Given the description of an element on the screen output the (x, y) to click on. 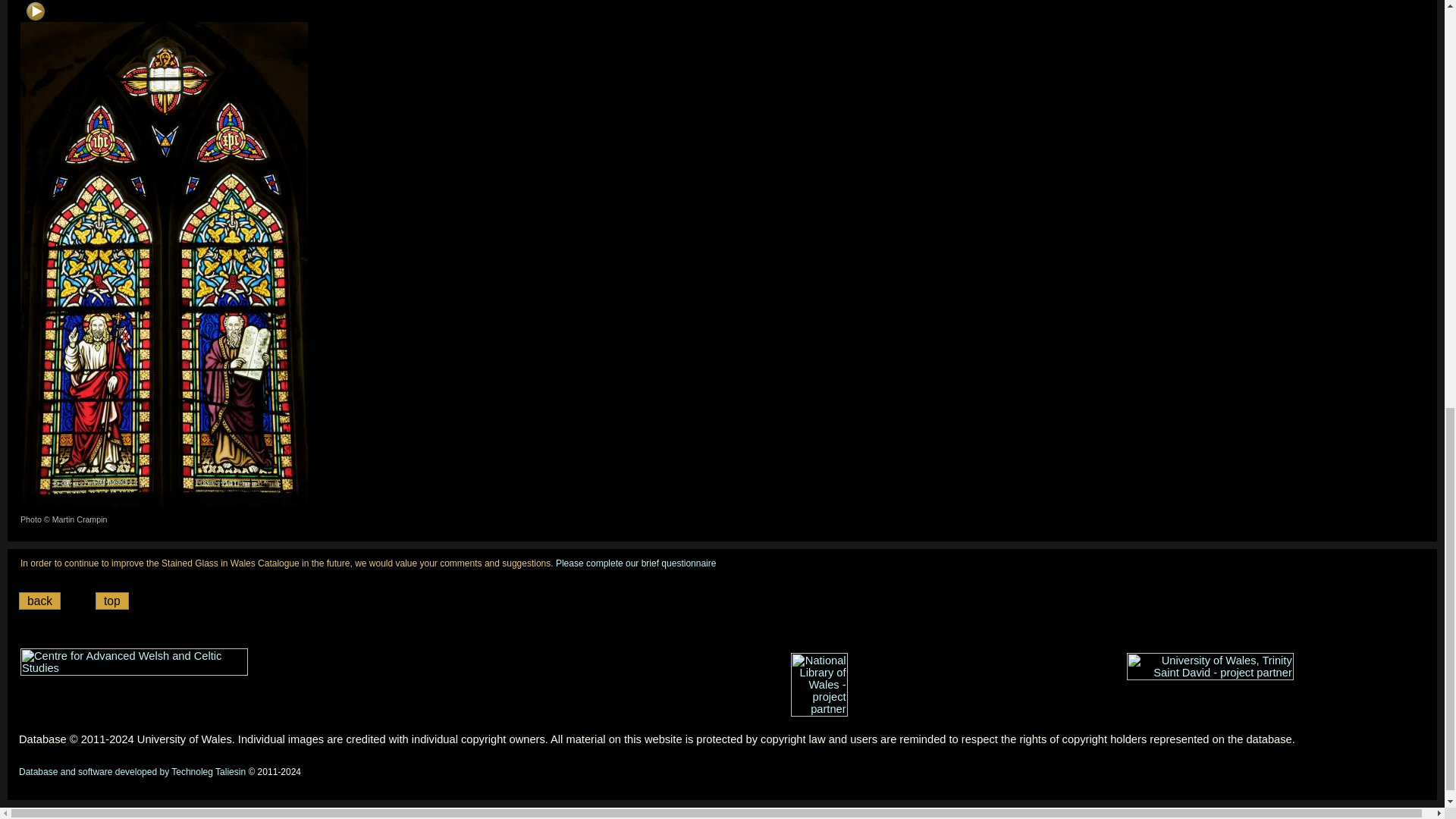
National Library of Wales - project partner (818, 684)
next image (35, 11)
Centre for Advanced Welsh and Celtic Studies (133, 661)
University of Wales, Trinity Saint David - project partner (1210, 666)
